Given the description of an element on the screen output the (x, y) to click on. 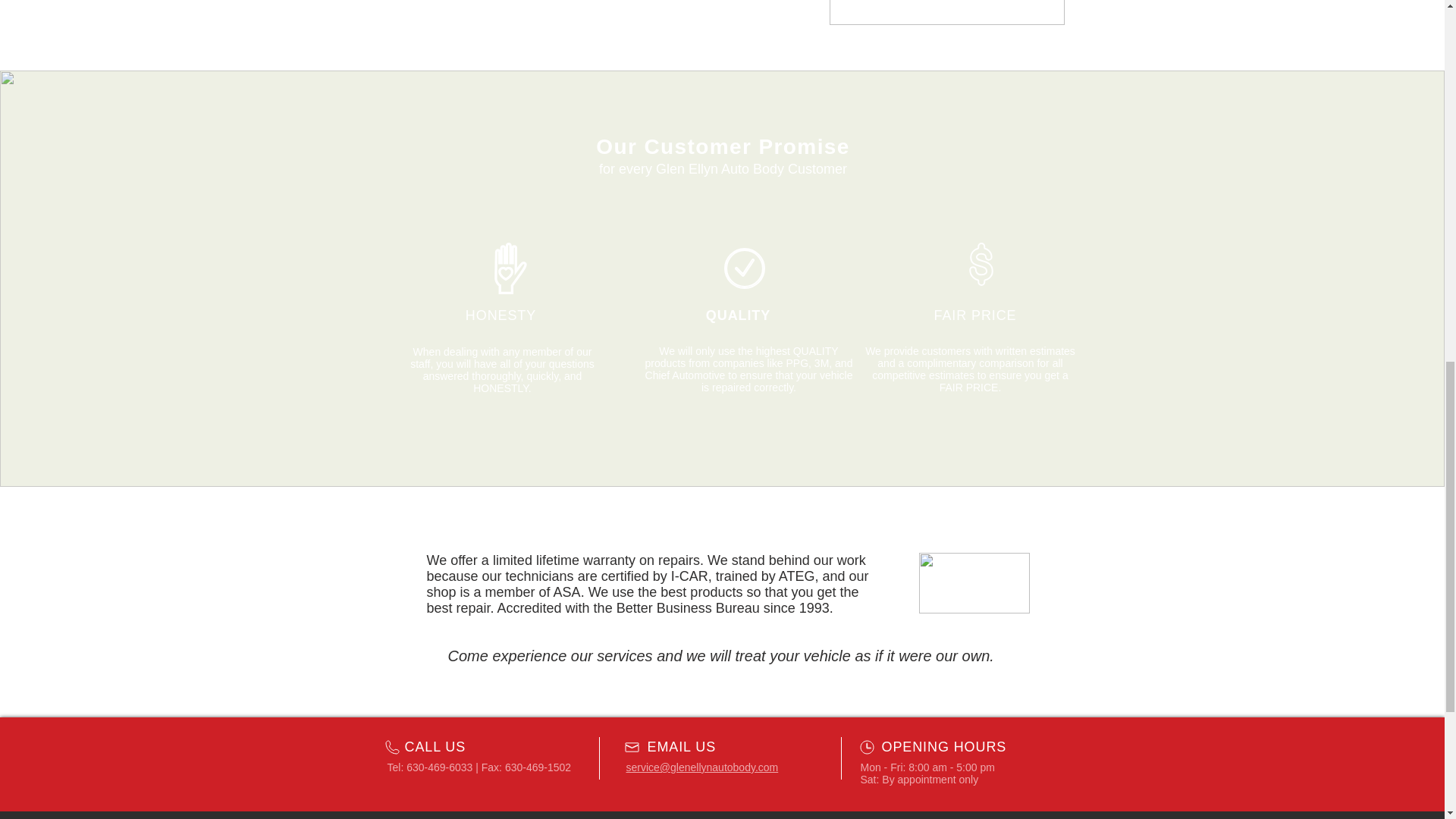
Better Business Bureau (687, 607)
ATEG (796, 575)
ASA (566, 591)
